Given the description of an element on the screen output the (x, y) to click on. 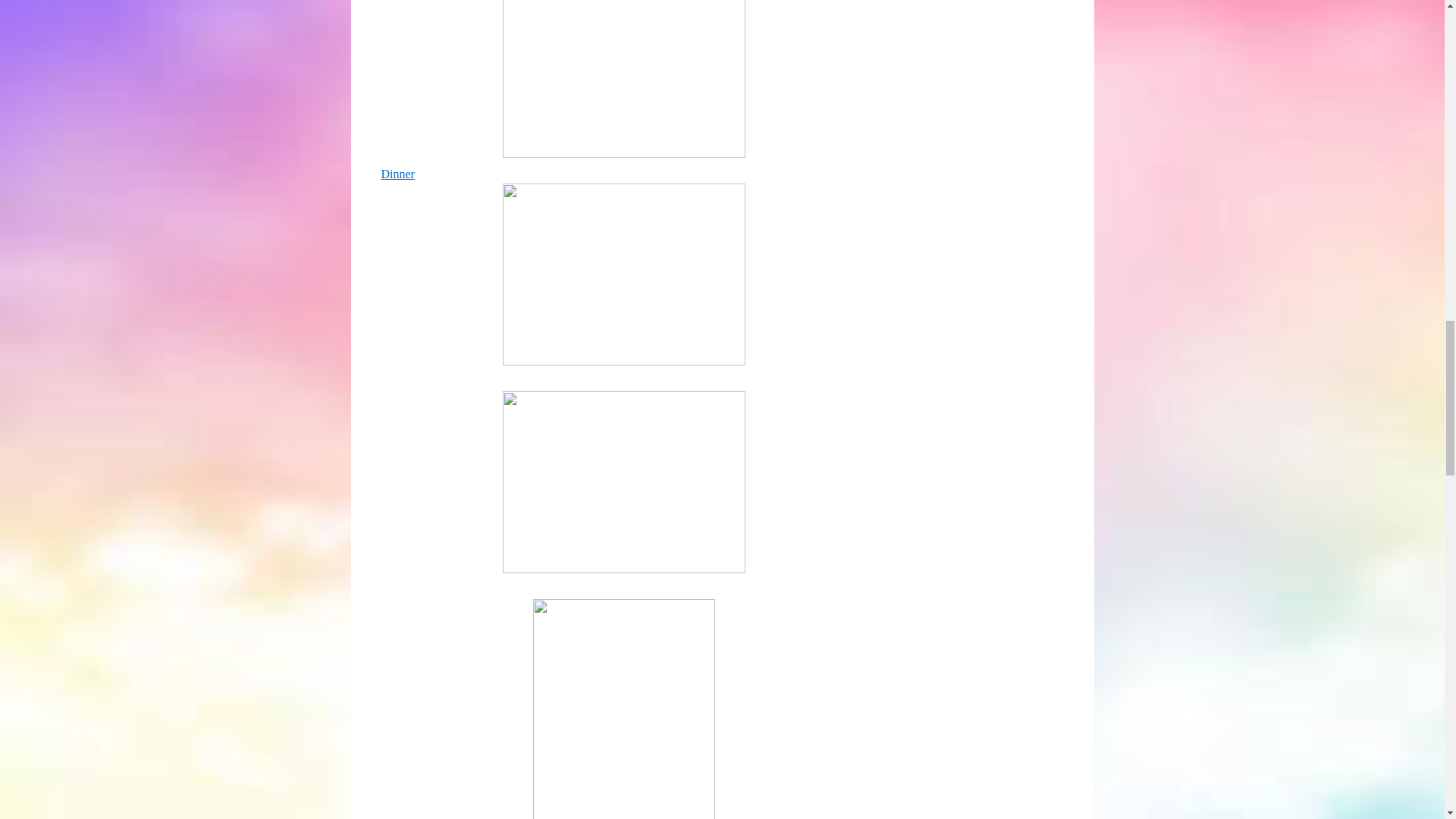
Dinner (396, 173)
